Given the description of an element on the screen output the (x, y) to click on. 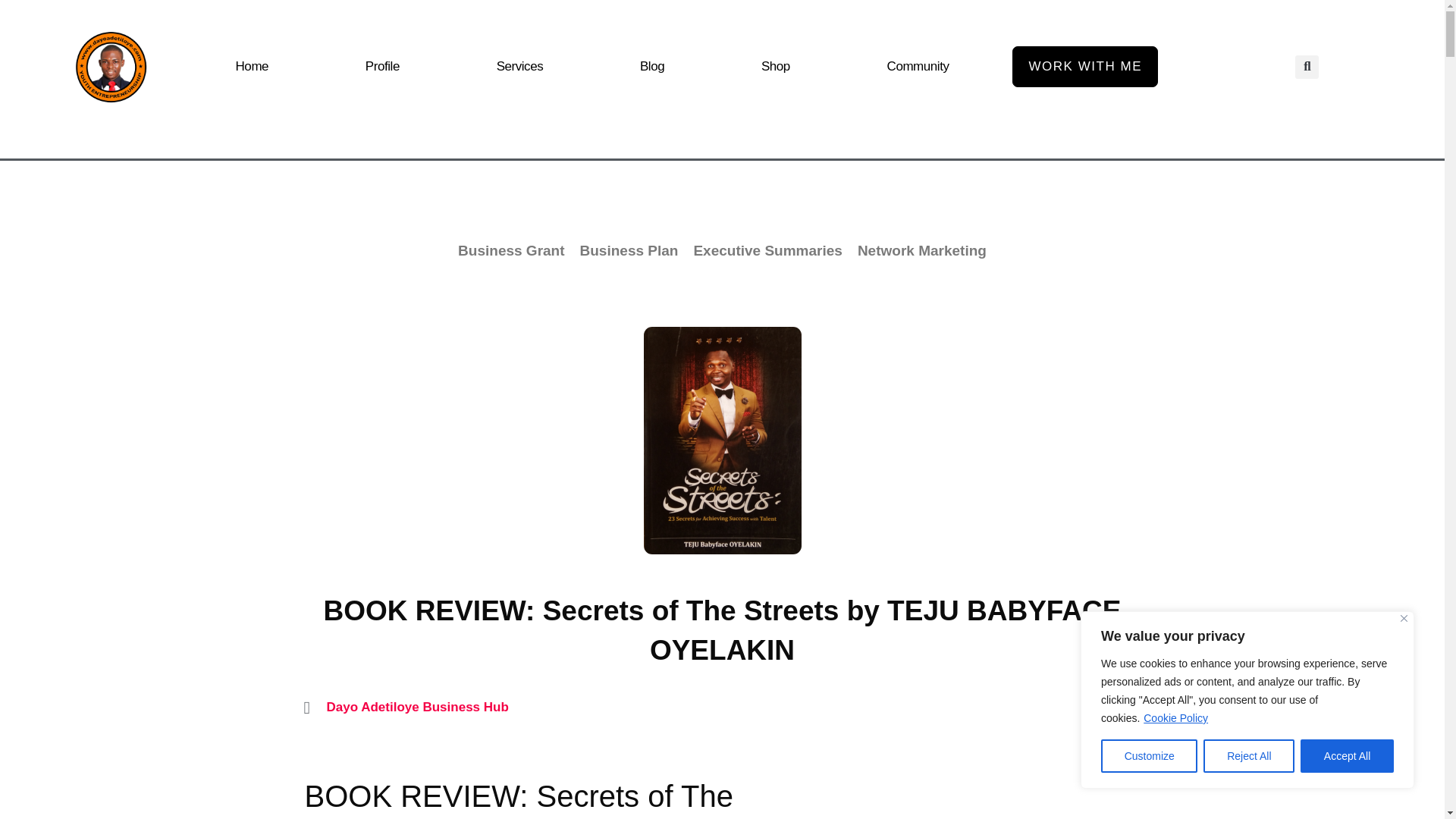
Advertisement (972, 771)
Home (251, 66)
Profile (381, 66)
WORK WITH ME (1084, 65)
Cookie Policy (1175, 717)
Shop (776, 66)
Customize (1148, 756)
Community (917, 66)
Accept All (1346, 756)
Reject All (1249, 756)
